Given the description of an element on the screen output the (x, y) to click on. 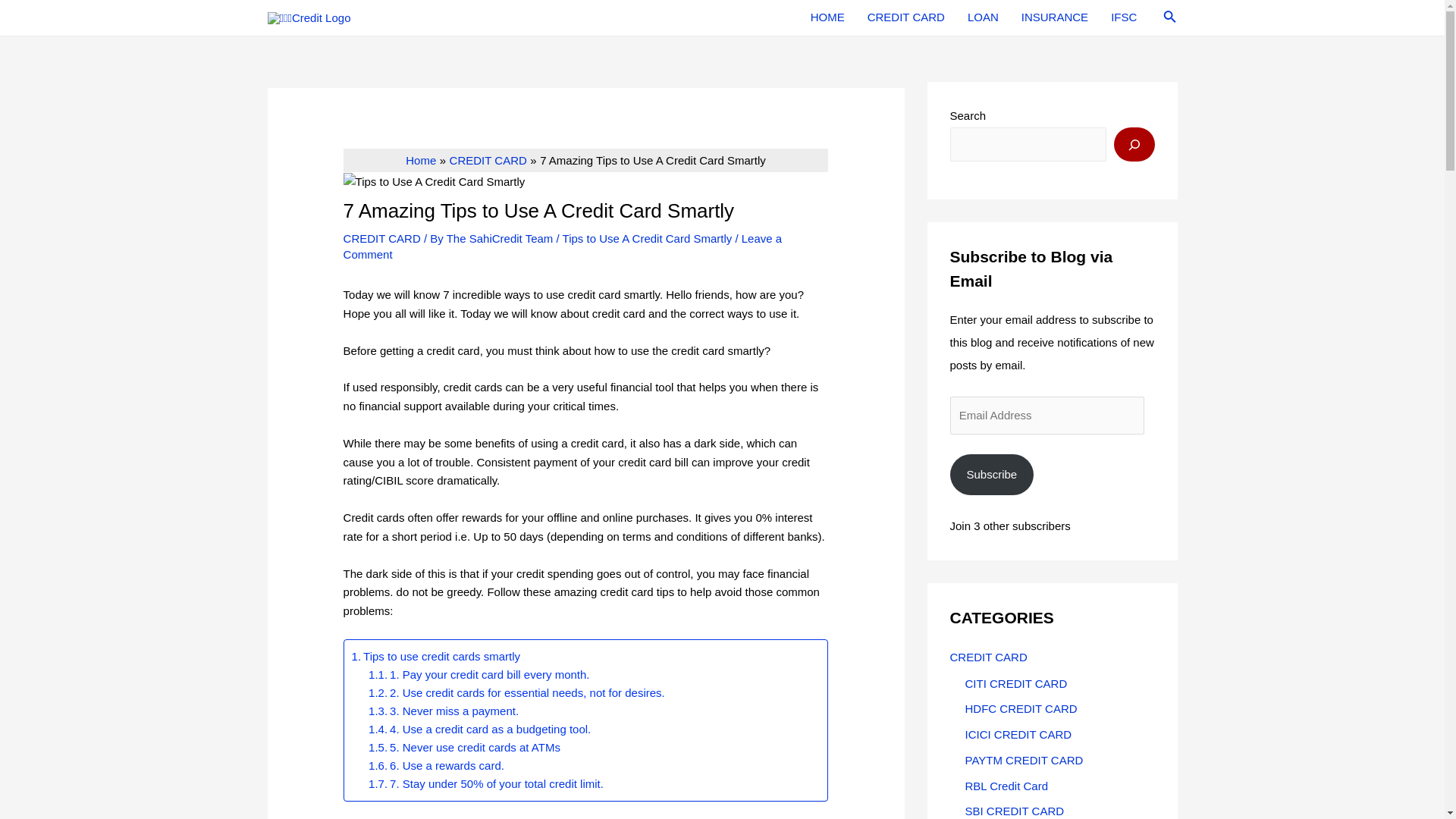
4. Use a credit card as a budgeting tool. (479, 729)
INSURANCE (1054, 17)
Tips to Use A Credit Card Smartly (647, 237)
CREDIT CARD (488, 160)
IFSC (1123, 17)
3. Never miss a payment. (443, 710)
CREDIT CARD (381, 237)
Leave a Comment (563, 246)
2. Use credit cards for essential needs, not for desires. (516, 692)
View all posts by The SahiCredit Team (501, 237)
